Given the description of an element on the screen output the (x, y) to click on. 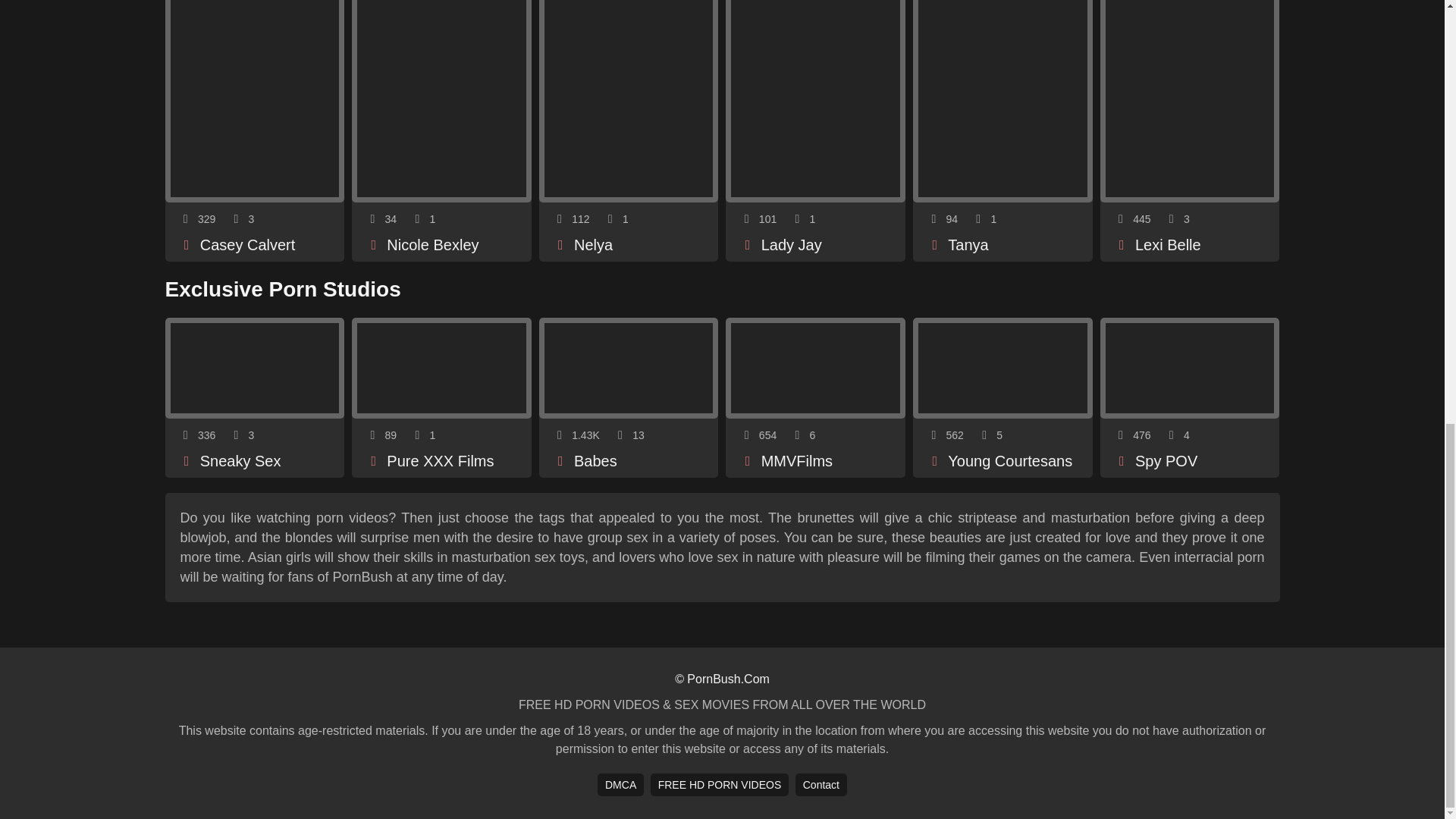
FREE HD PORN VIDEOS (719, 784)
